Given the description of an element on the screen output the (x, y) to click on. 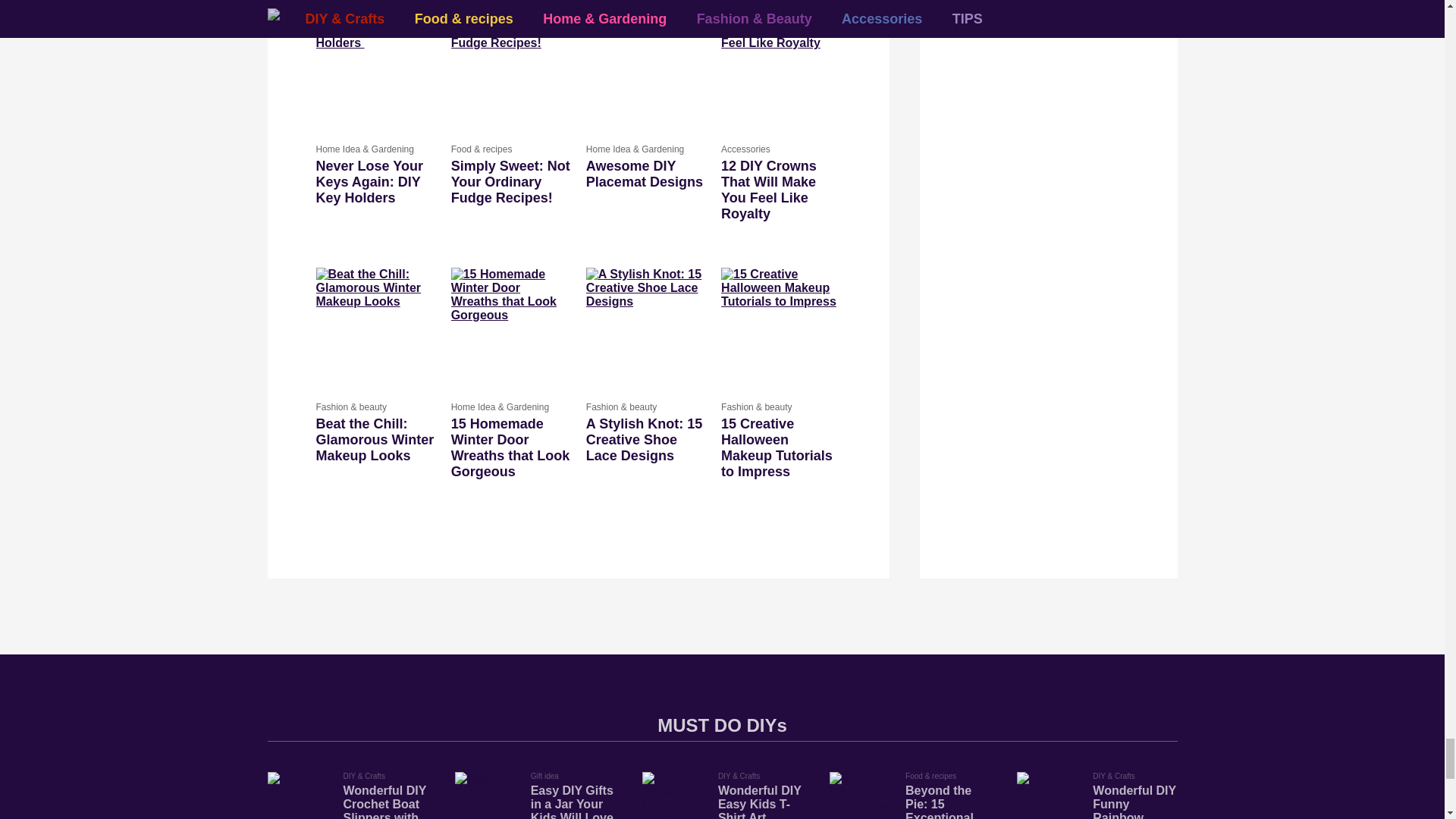
Accessories (780, 149)
Beat the Chill: Glamorous Winter Makeup Looks (374, 440)
Simply Sweet: Not Your Ordinary Fudge Recipes! (510, 68)
A Stylish Knot: 15 Creative Shoe Lace Designs (645, 326)
12 DIY Crowns That Will Make You Feel Like Royalty (780, 68)
Awesome DIY Placemat Designs (645, 174)
15 Homemade Winter Door Wreaths that Look Gorgeous (510, 326)
Awesome DIY Placemat Designs (645, 68)
